Given the description of an element on the screen output the (x, y) to click on. 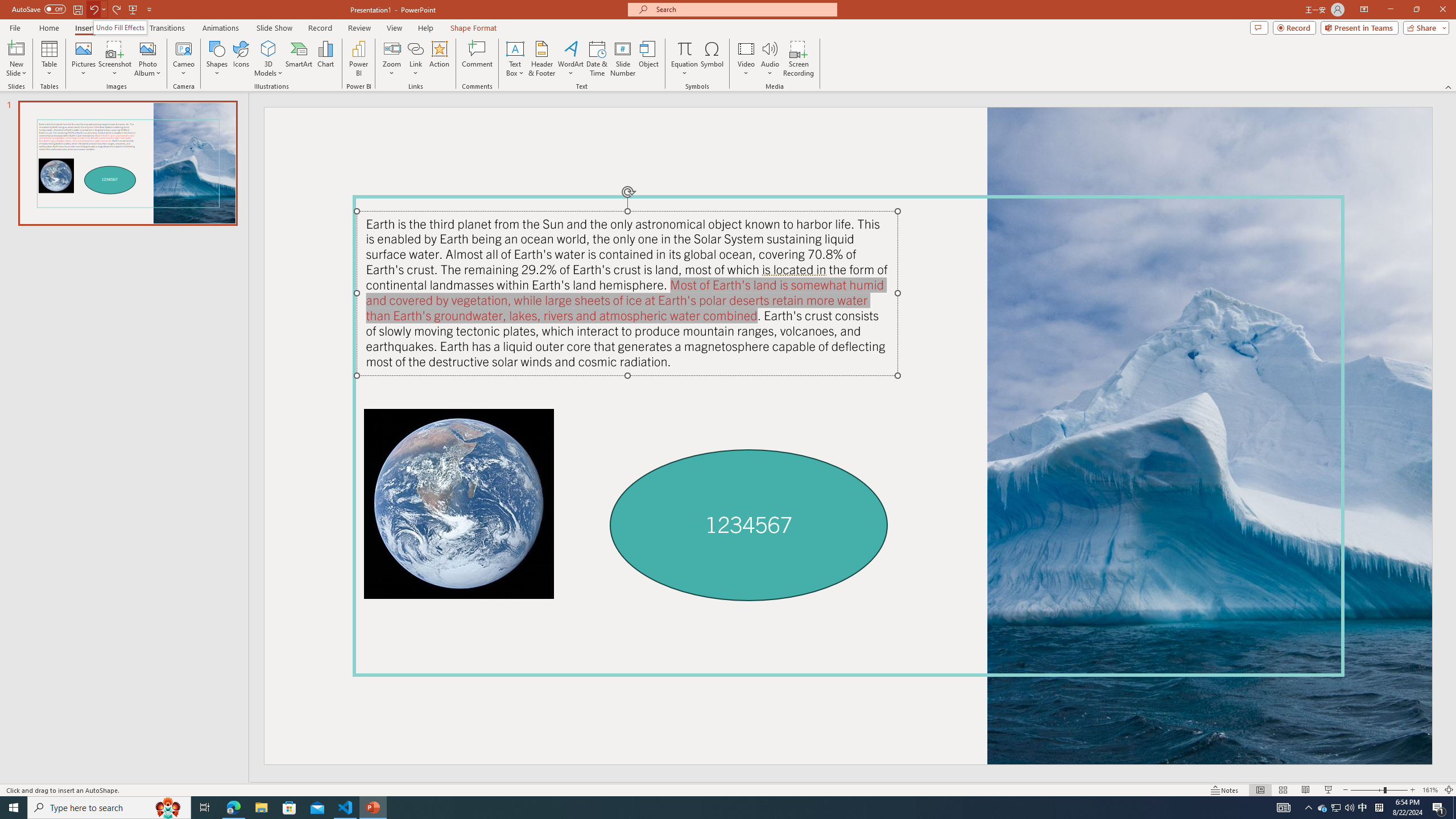
Symbol... (711, 58)
